Given the description of an element on the screen output the (x, y) to click on. 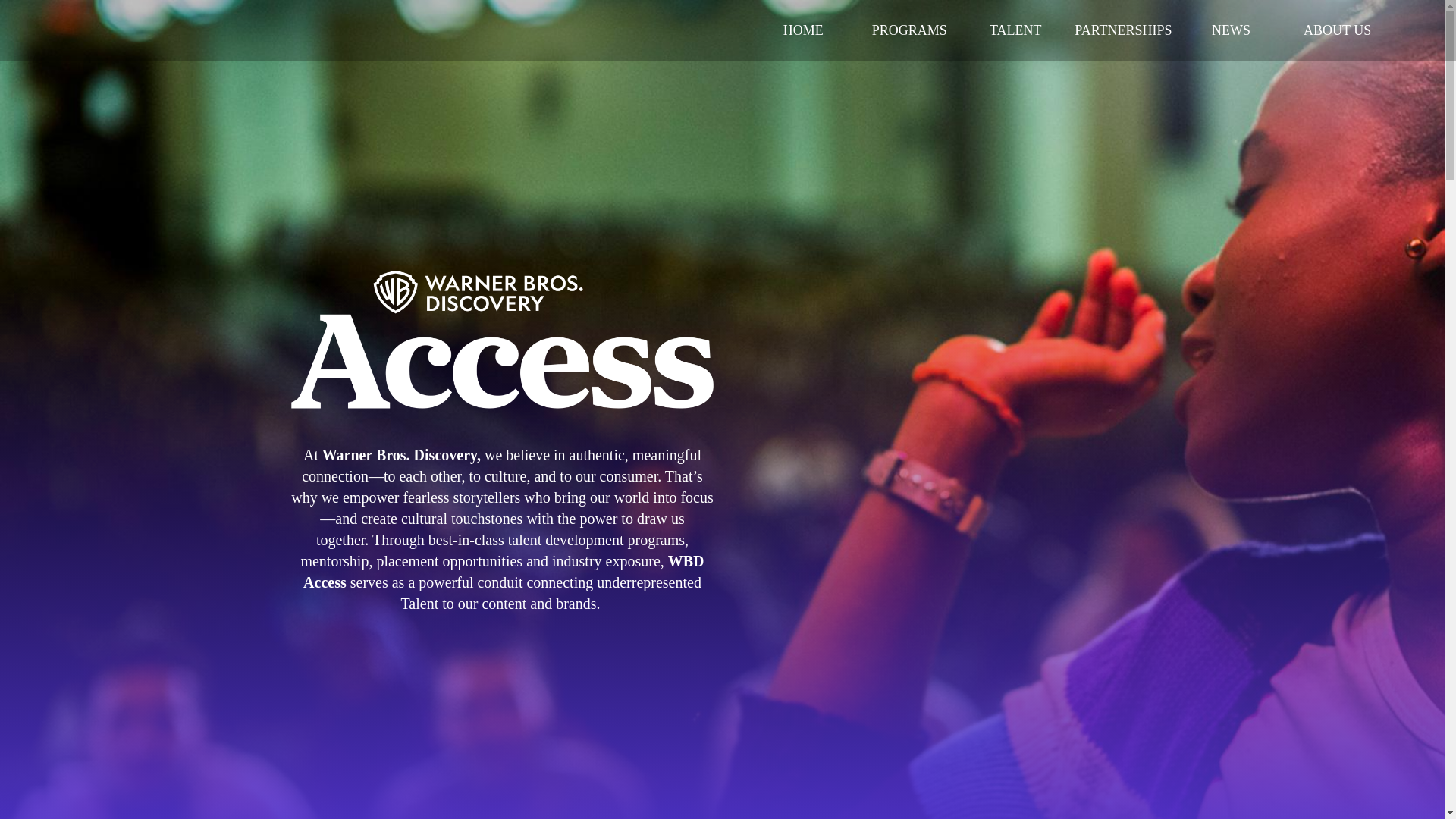
PROGRAMS (909, 30)
HOME (802, 30)
TALENT (1015, 30)
Welcome to Warner Media Access (502, 333)
PARTNERSHIPS (1122, 30)
NEWS (1230, 30)
ABOUT US (1337, 30)
